Given the description of an element on the screen output the (x, y) to click on. 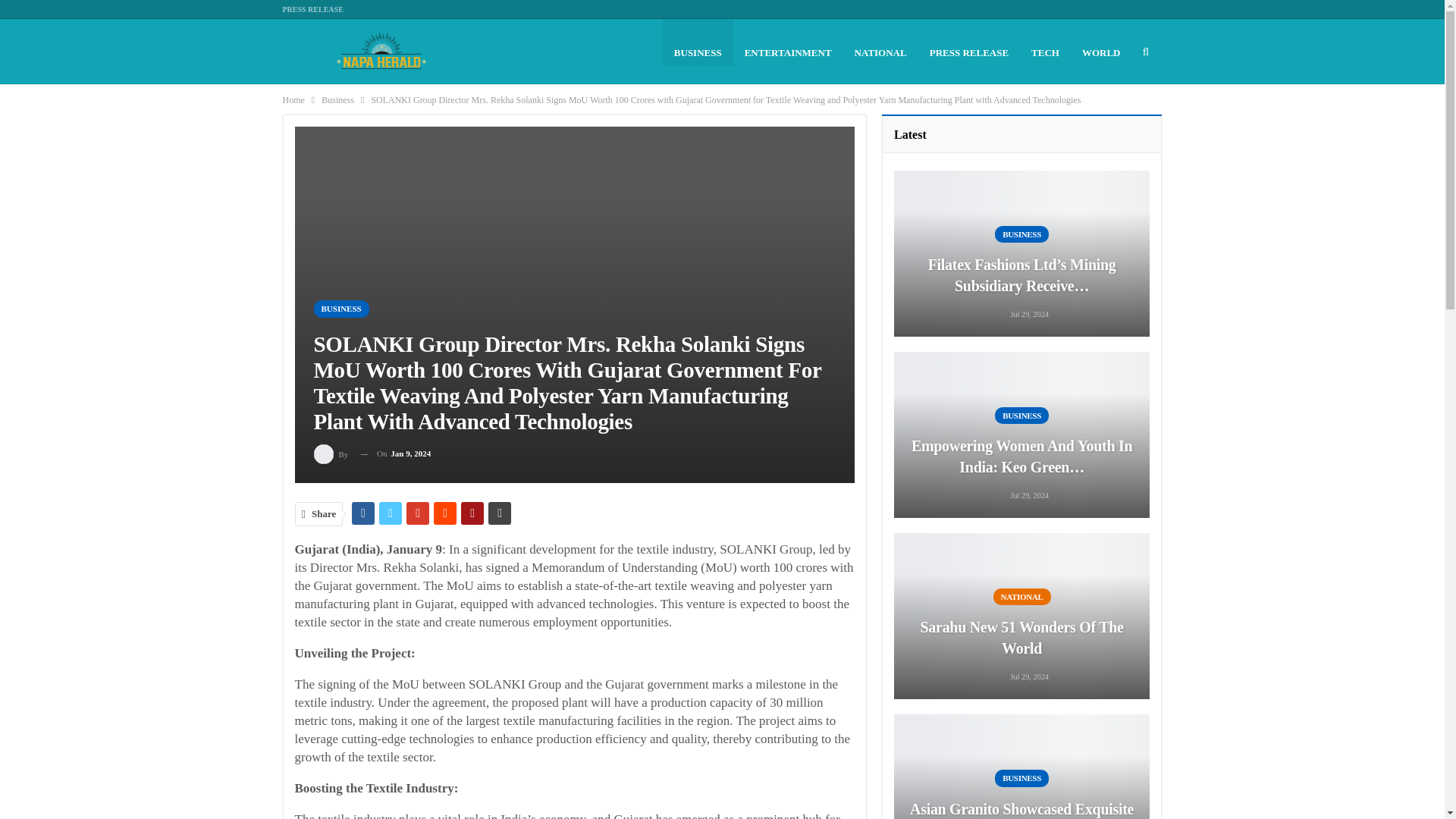
PRESS RELEASE (969, 52)
Home (293, 99)
Business (337, 99)
ENTERTAINMENT (788, 52)
WORLD (1101, 52)
By (332, 453)
BUSINESS (697, 52)
NATIONAL (880, 52)
PRESS RELEASE (312, 8)
Browse Author Articles (332, 453)
BUSINESS (341, 308)
